Given the description of an element on the screen output the (x, y) to click on. 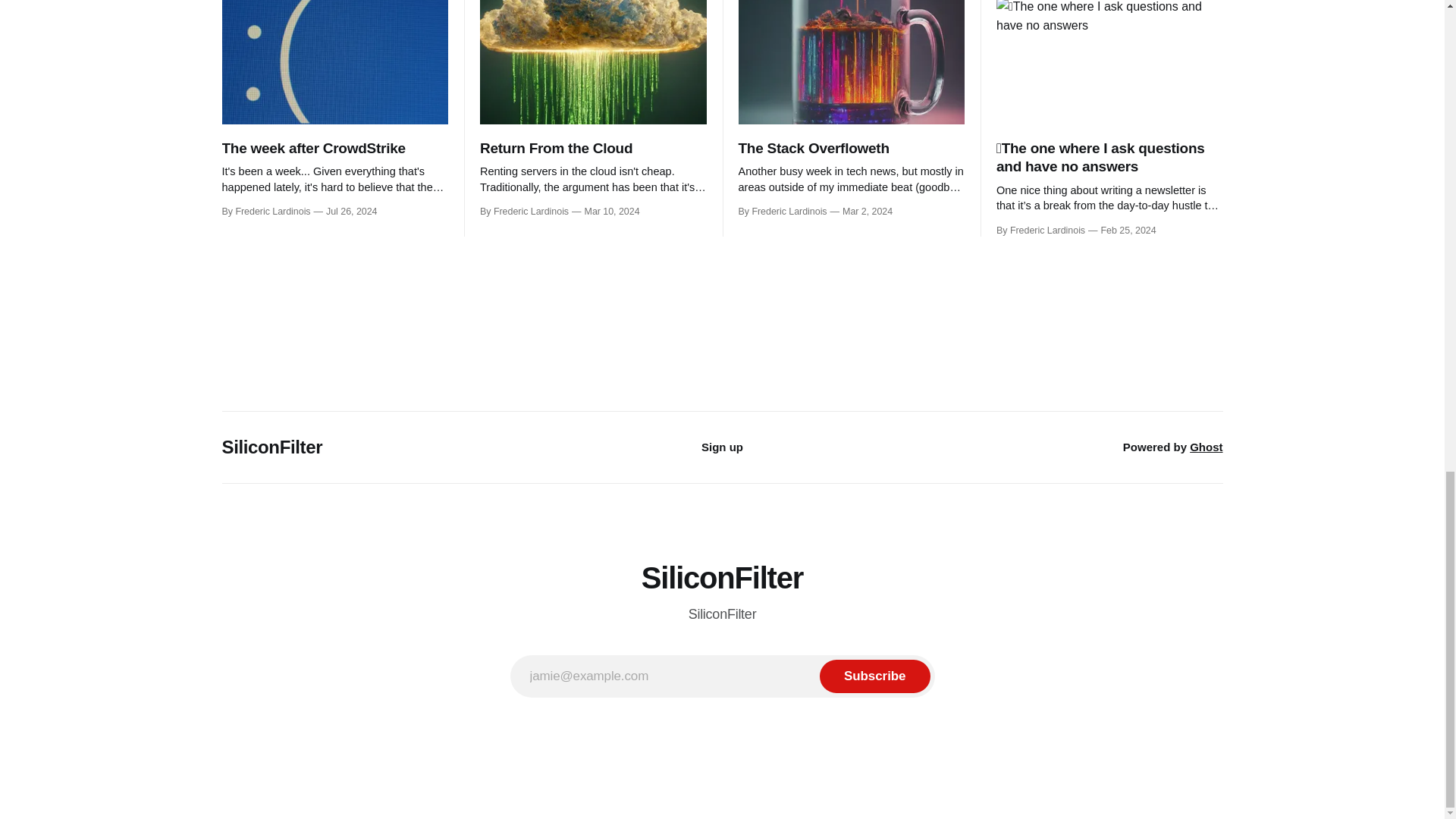
Sign up (721, 446)
Subscribe (874, 676)
Ghost (1206, 446)
